Given the description of an element on the screen output the (x, y) to click on. 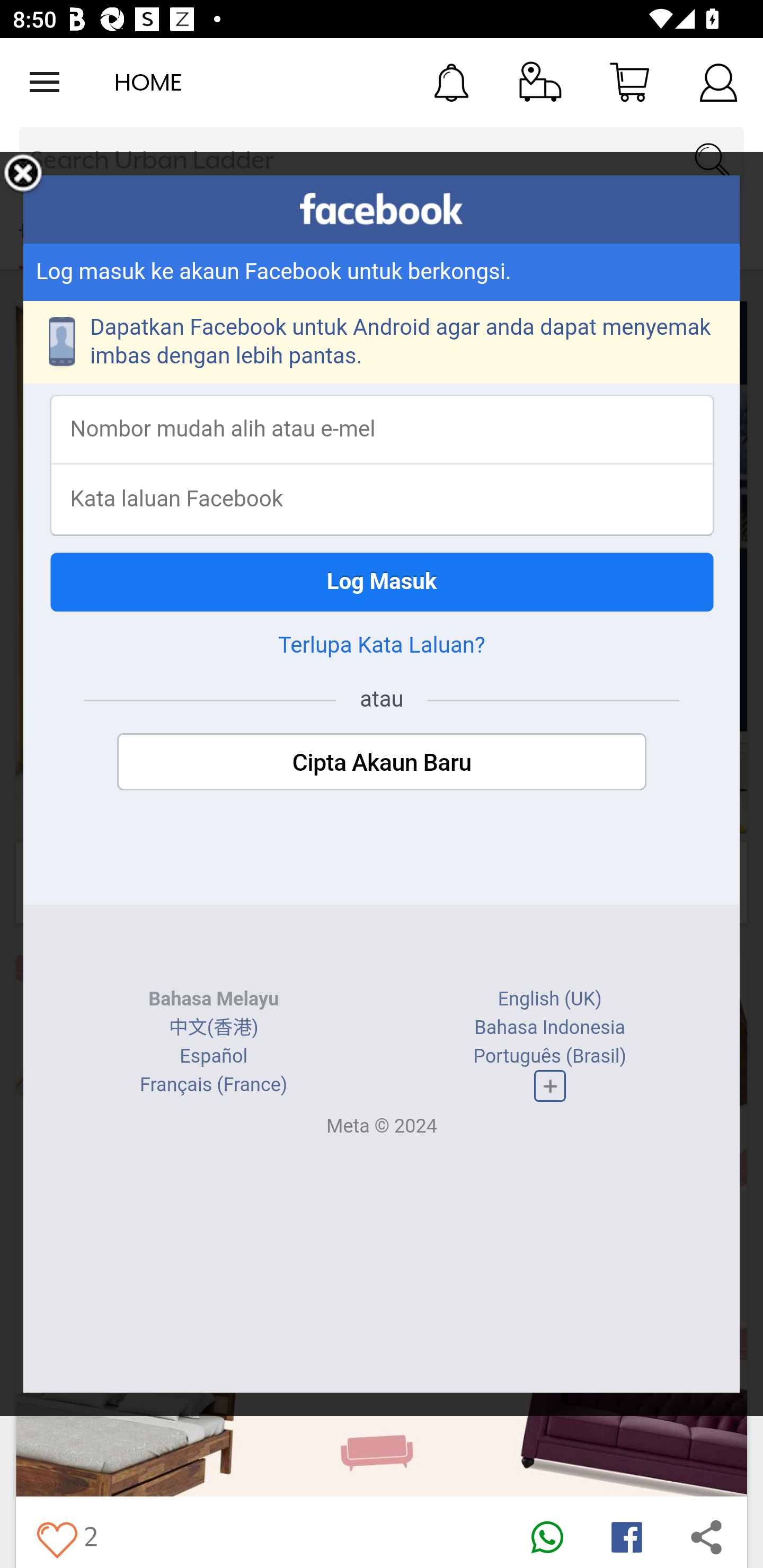
facebook (381, 208)
Log Masuk (381, 582)
Terlupa Kata Laluan? (381, 644)
Cipta Akaun Baru (381, 761)
English (UK) (549, 999)
中文(香港) (212, 1027)
Bahasa Indonesia (549, 1027)
Español (213, 1055)
Português (Brasil) (550, 1055)
Senarai lengkap bahasa (548, 1085)
Français (France) (213, 1084)
